Given the description of an element on the screen output the (x, y) to click on. 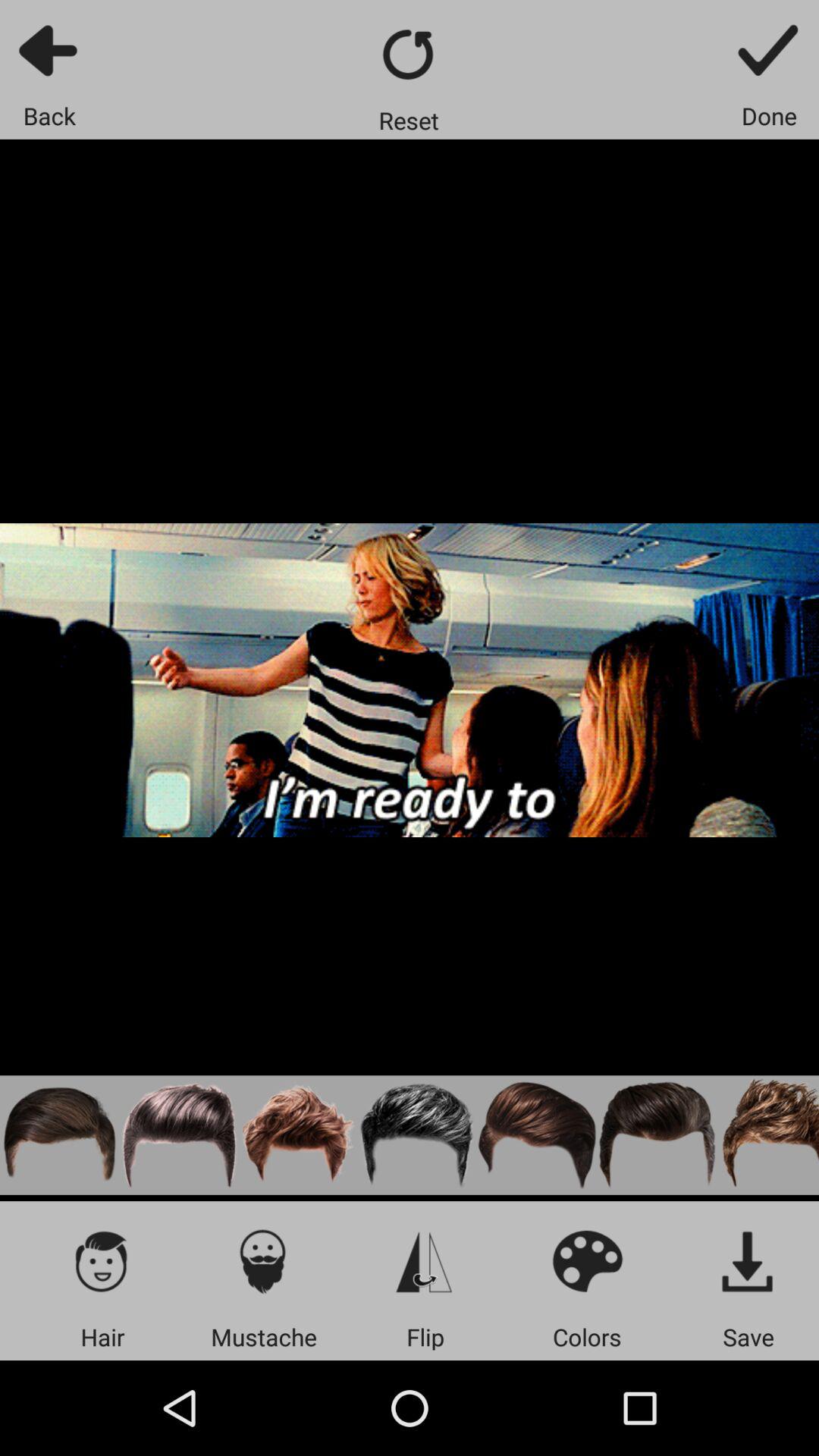
reset (408, 54)
